Given the description of an element on the screen output the (x, y) to click on. 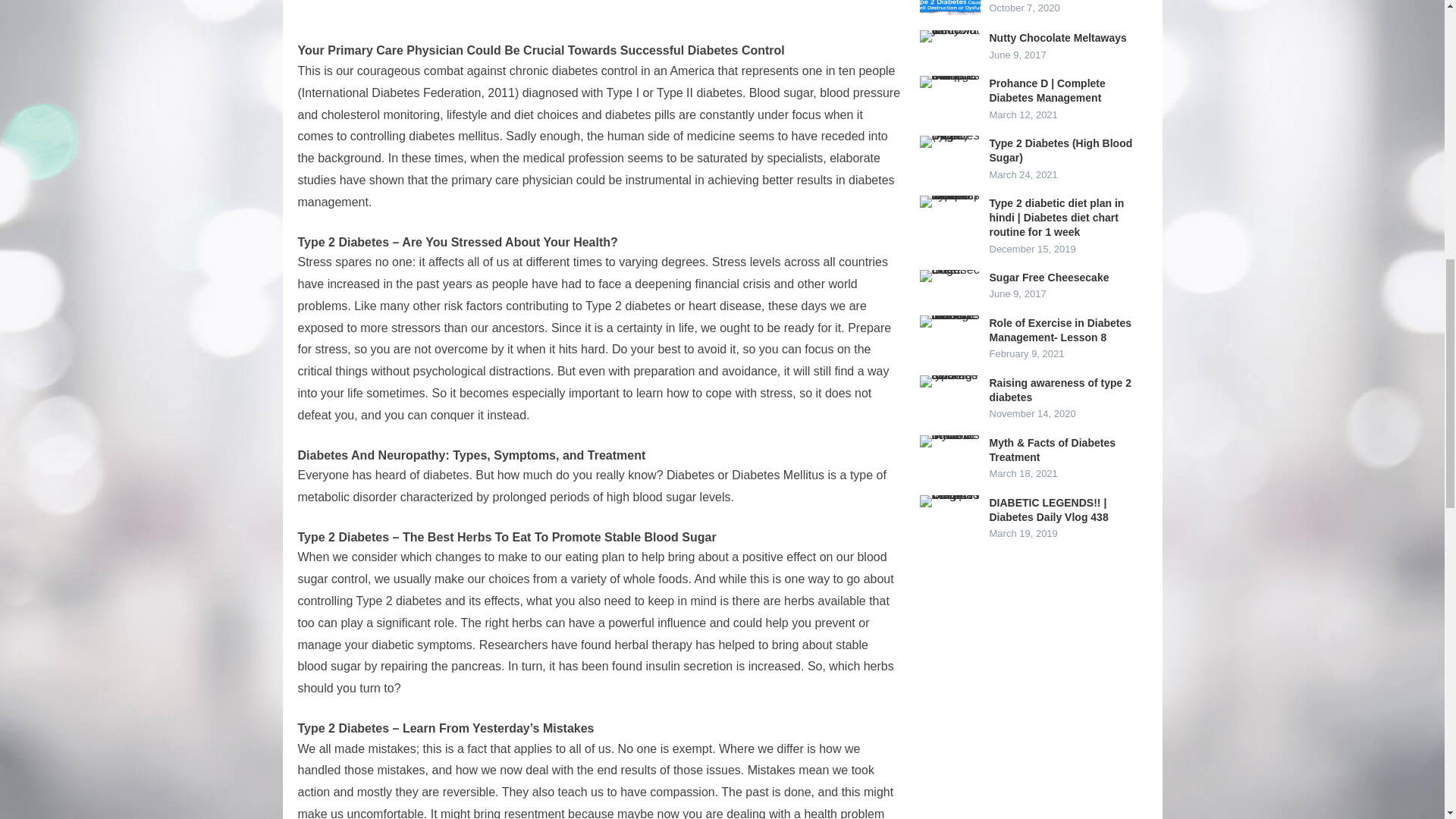
Sugar Free Cheesecake 18 (948, 275)
Nutty Chocolate Meltaways 14 (948, 36)
